Given the description of an element on the screen output the (x, y) to click on. 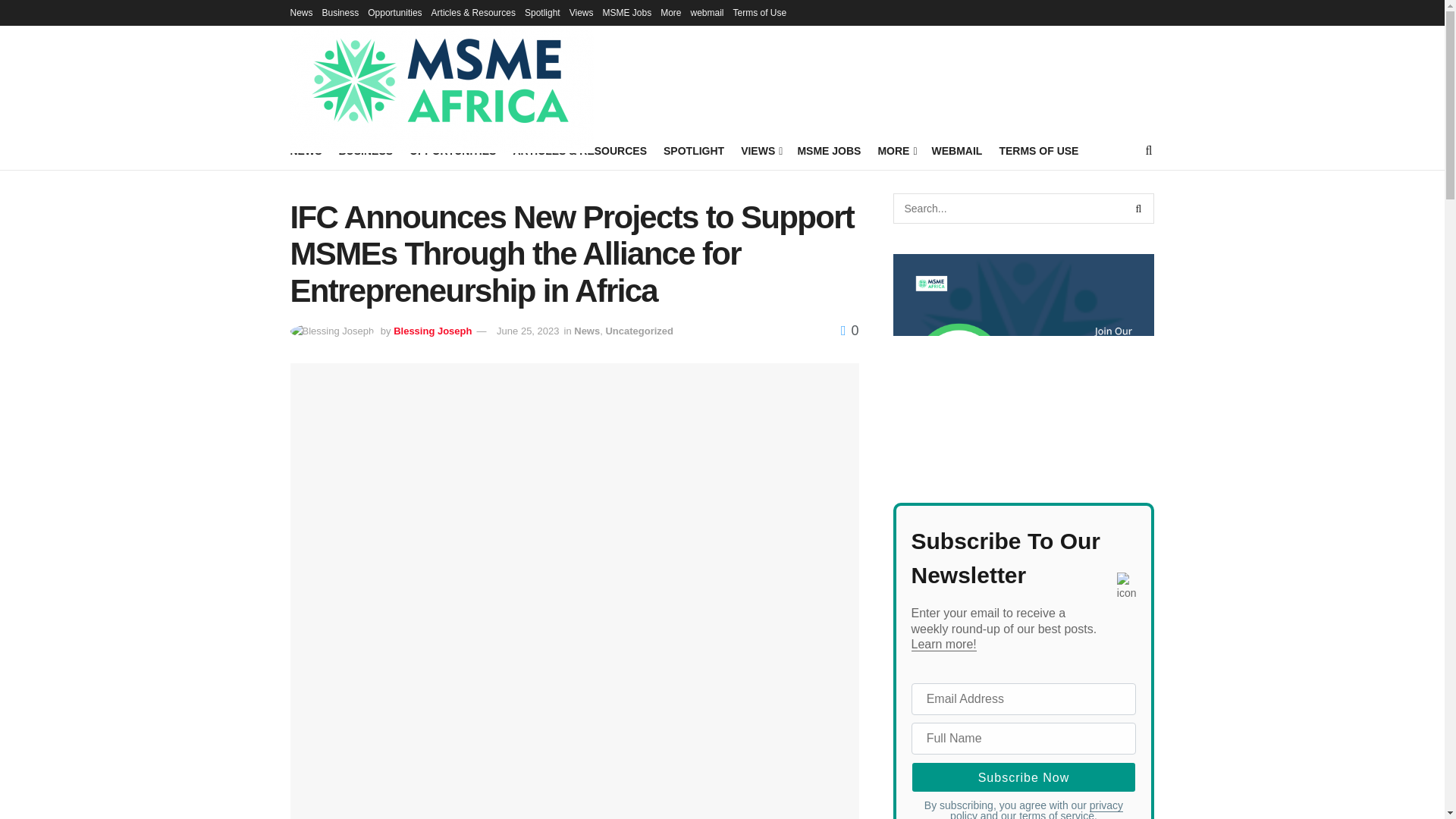
MSME JOBS (828, 150)
Subscribe Now (1024, 777)
MORE (895, 150)
Spotlight (542, 12)
SPOTLIGHT (693, 150)
BUSINESS (365, 150)
Terms of Use (760, 12)
Business (340, 12)
TERMS OF USE (1038, 150)
VIEWS (760, 150)
